Given the description of an element on the screen output the (x, y) to click on. 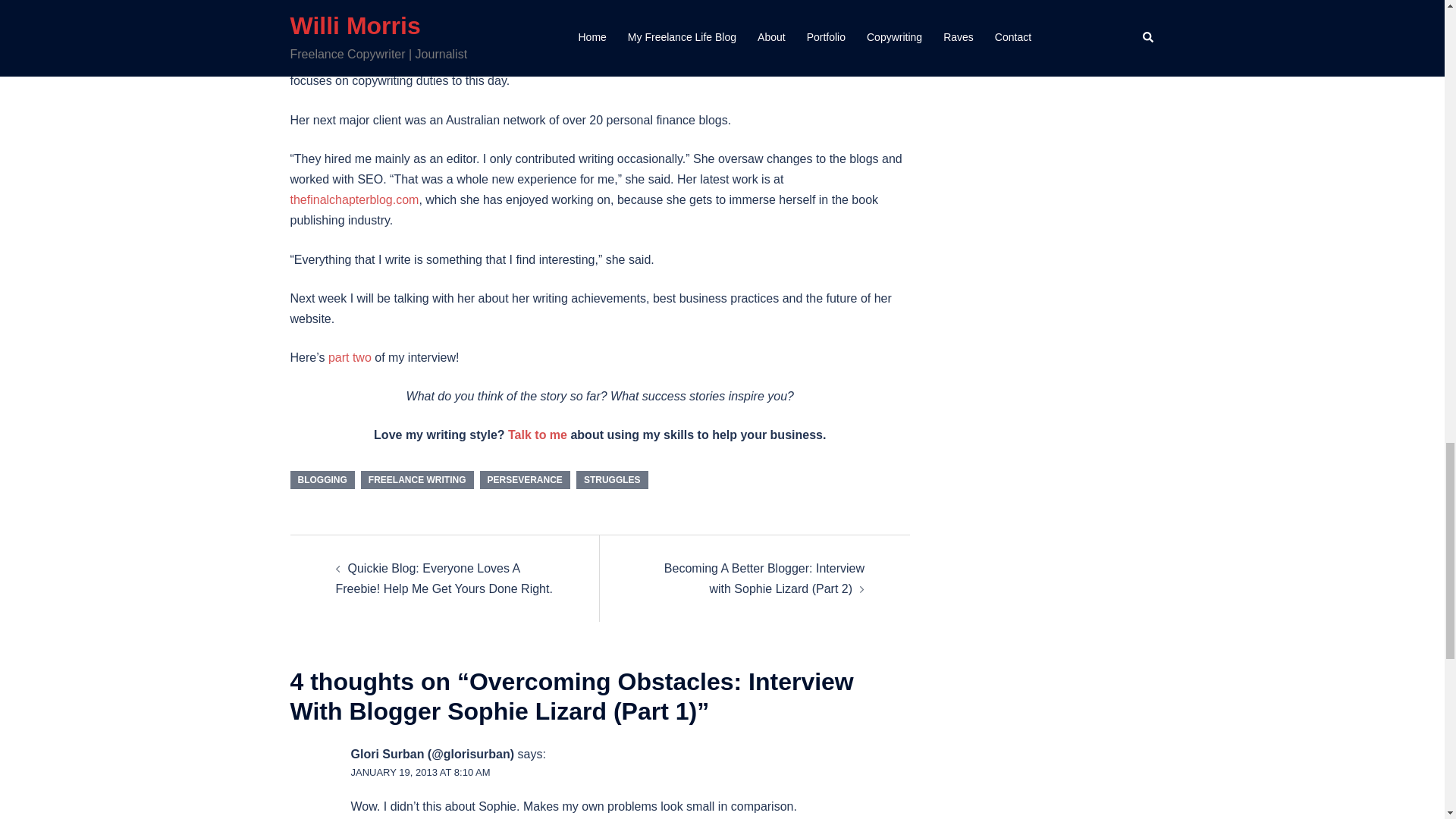
STRUGGLES (611, 479)
Contact (537, 434)
thefinalchapterblog.com (354, 199)
Talk to me (537, 434)
Match2lists.com (801, 39)
part two (350, 357)
FREELANCE WRITING (417, 479)
PERSEVERANCE (525, 479)
BLOGGING (321, 479)
